Given the description of an element on the screen output the (x, y) to click on. 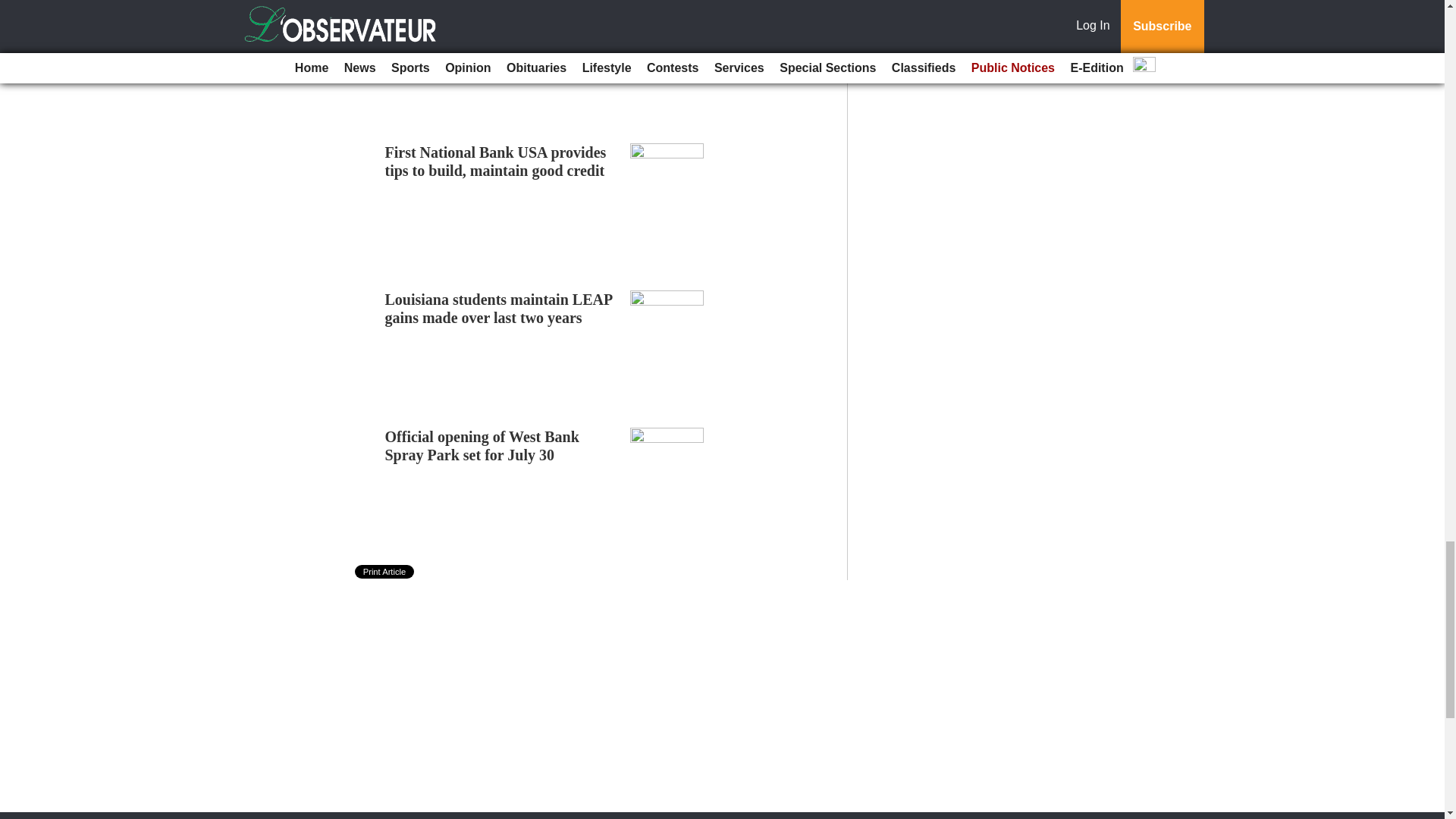
Official opening of West Bank Spray Park set for July 30 (482, 445)
Print Article (384, 571)
Youth golf league registration opens (501, 15)
Official opening of West Bank Spray Park set for July 30 (482, 445)
Youth golf league registration opens (501, 15)
